Given the description of an element on the screen output the (x, y) to click on. 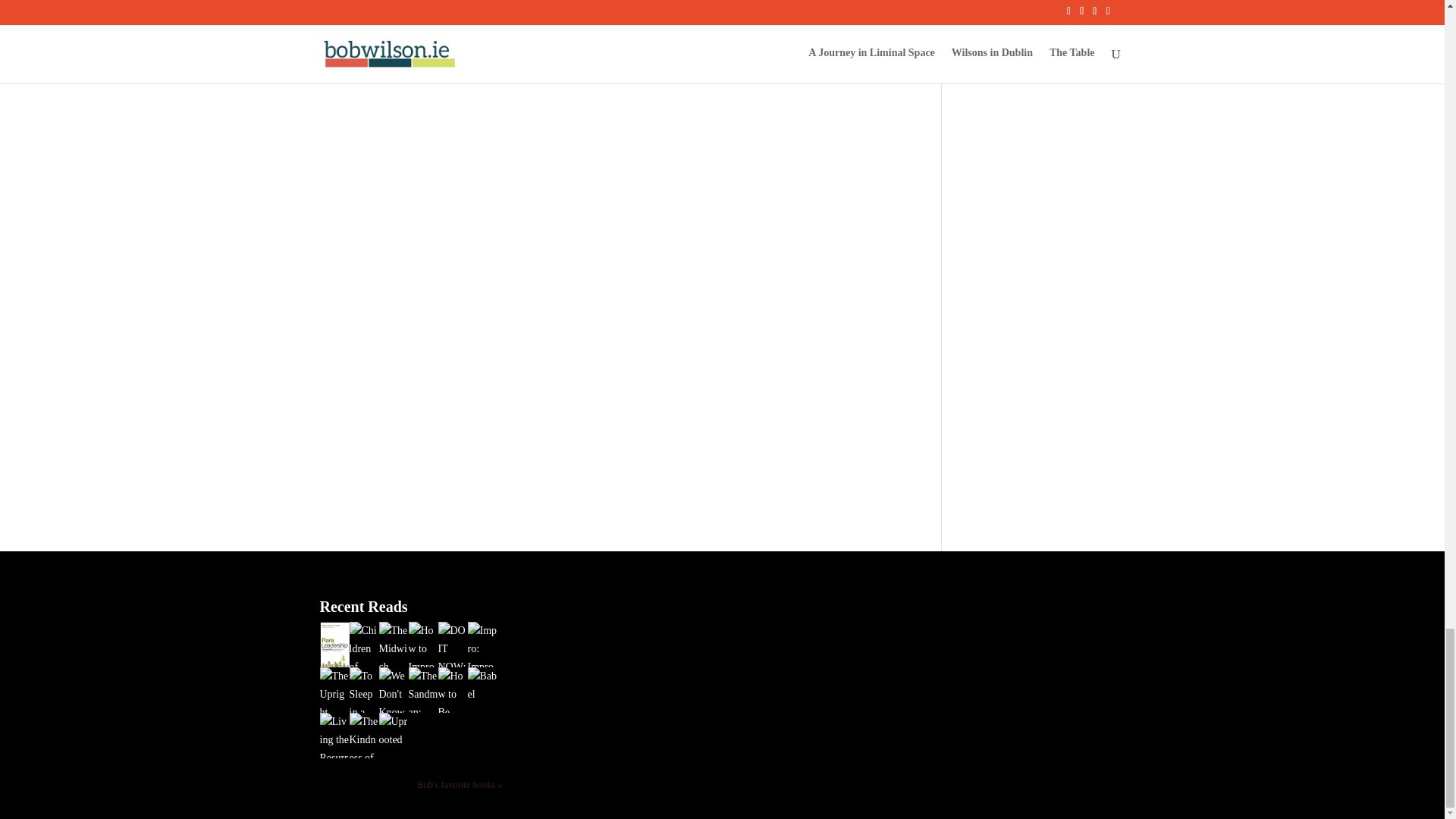
The Midwich Cuckoos (393, 702)
Impro: Improvisation and the Theatre (481, 756)
Recent Reads (363, 606)
